Given the description of an element on the screen output the (x, y) to click on. 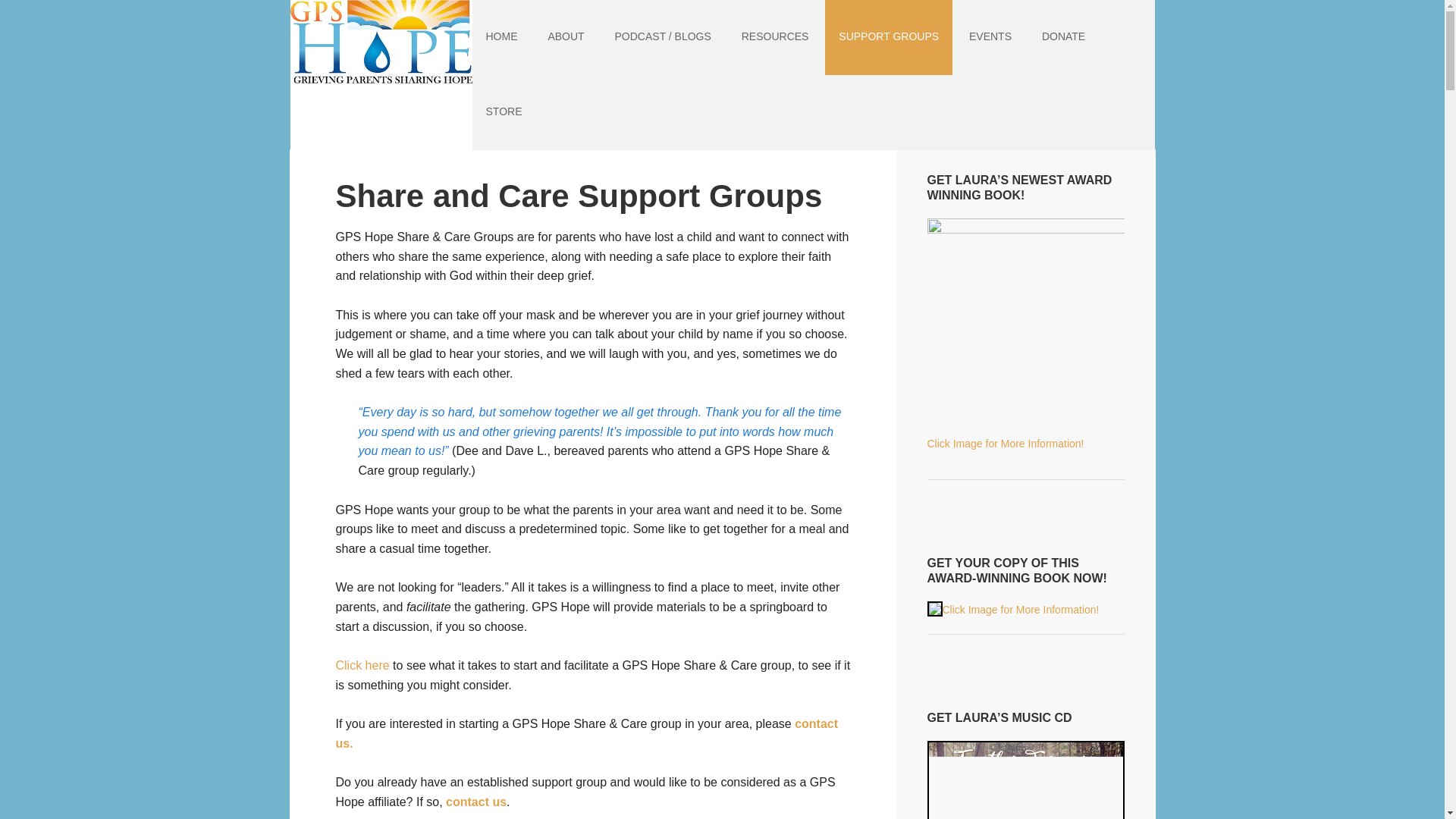
SUPPORT GROUPS (888, 37)
RESOURCES (775, 37)
GPS Hope (380, 49)
